Given the description of an element on the screen output the (x, y) to click on. 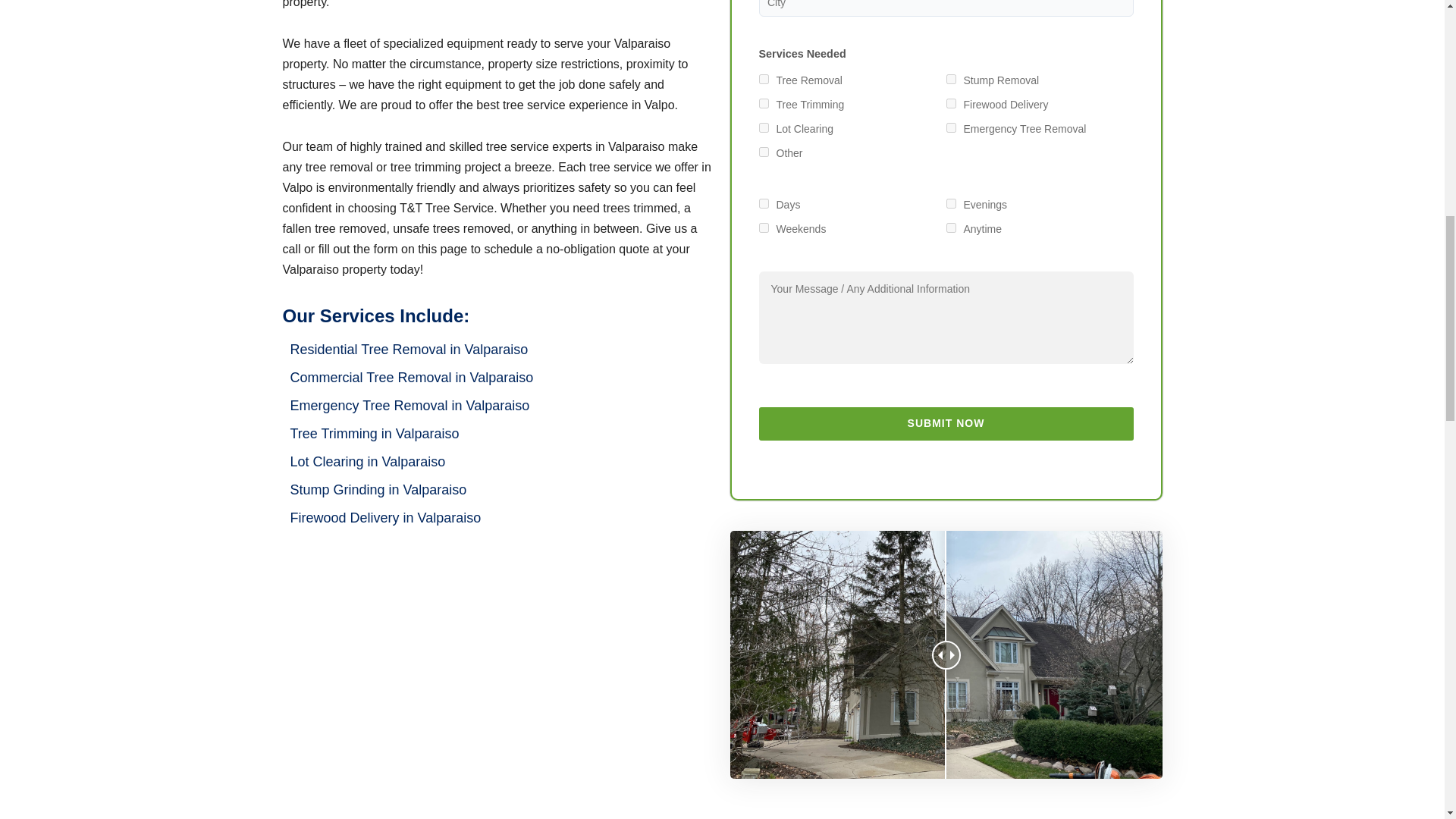
Days (763, 203)
Other (763, 152)
Tree Trimming (763, 103)
Firewood Delivery (951, 103)
Evenings (951, 203)
Tree Removal (763, 79)
Weekends (763, 227)
Lot Clearing (763, 127)
Anytime (951, 227)
Emergency Tree Removal (951, 127)
Stump Removal (951, 79)
